Given the description of an element on the screen output the (x, y) to click on. 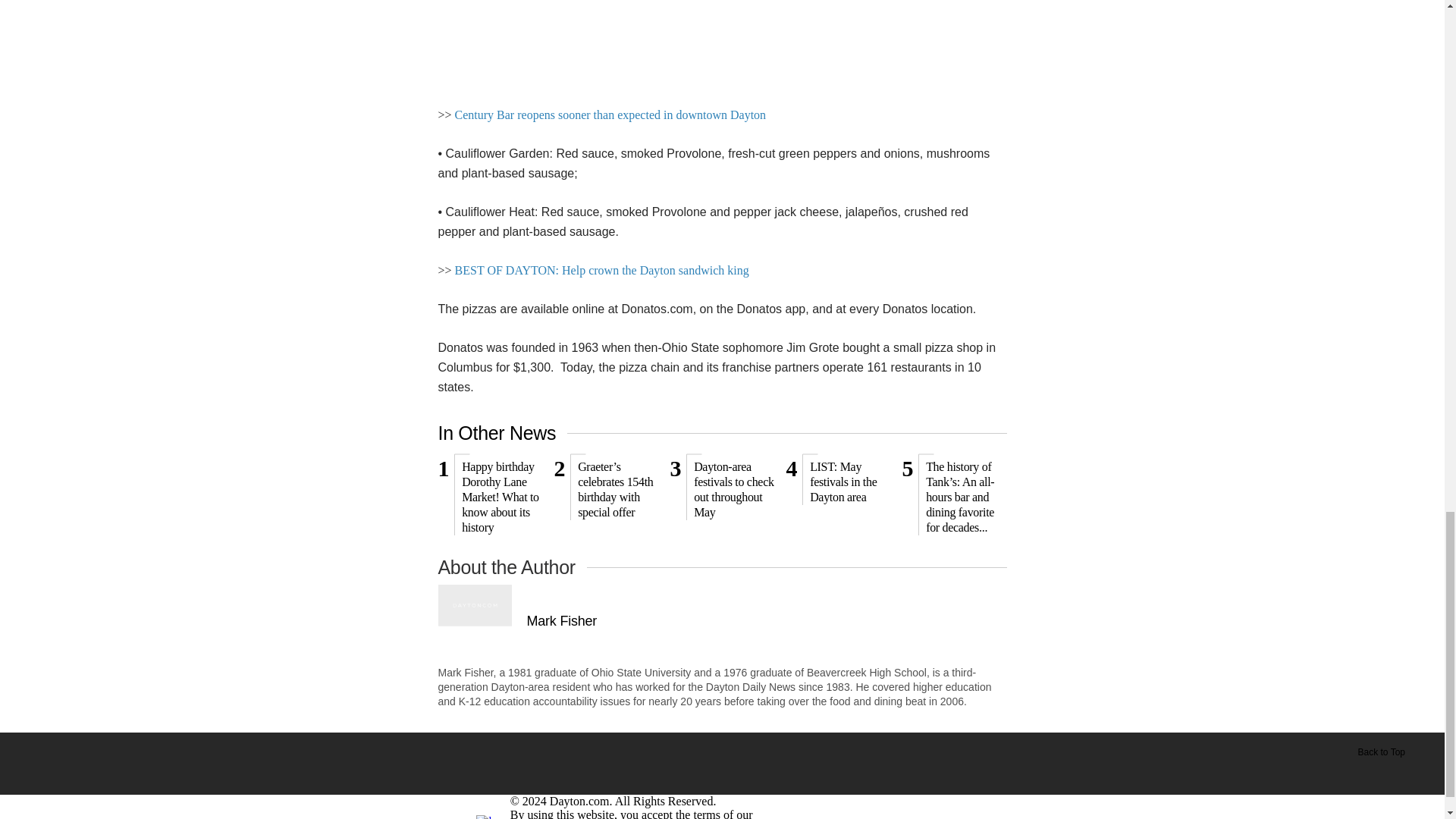
Century Bar reopens sooner than expected in downtown Dayton (610, 115)
BEST OF DAYTON: Help crown the Dayton sandwich king (601, 270)
